Given the description of an element on the screen output the (x, y) to click on. 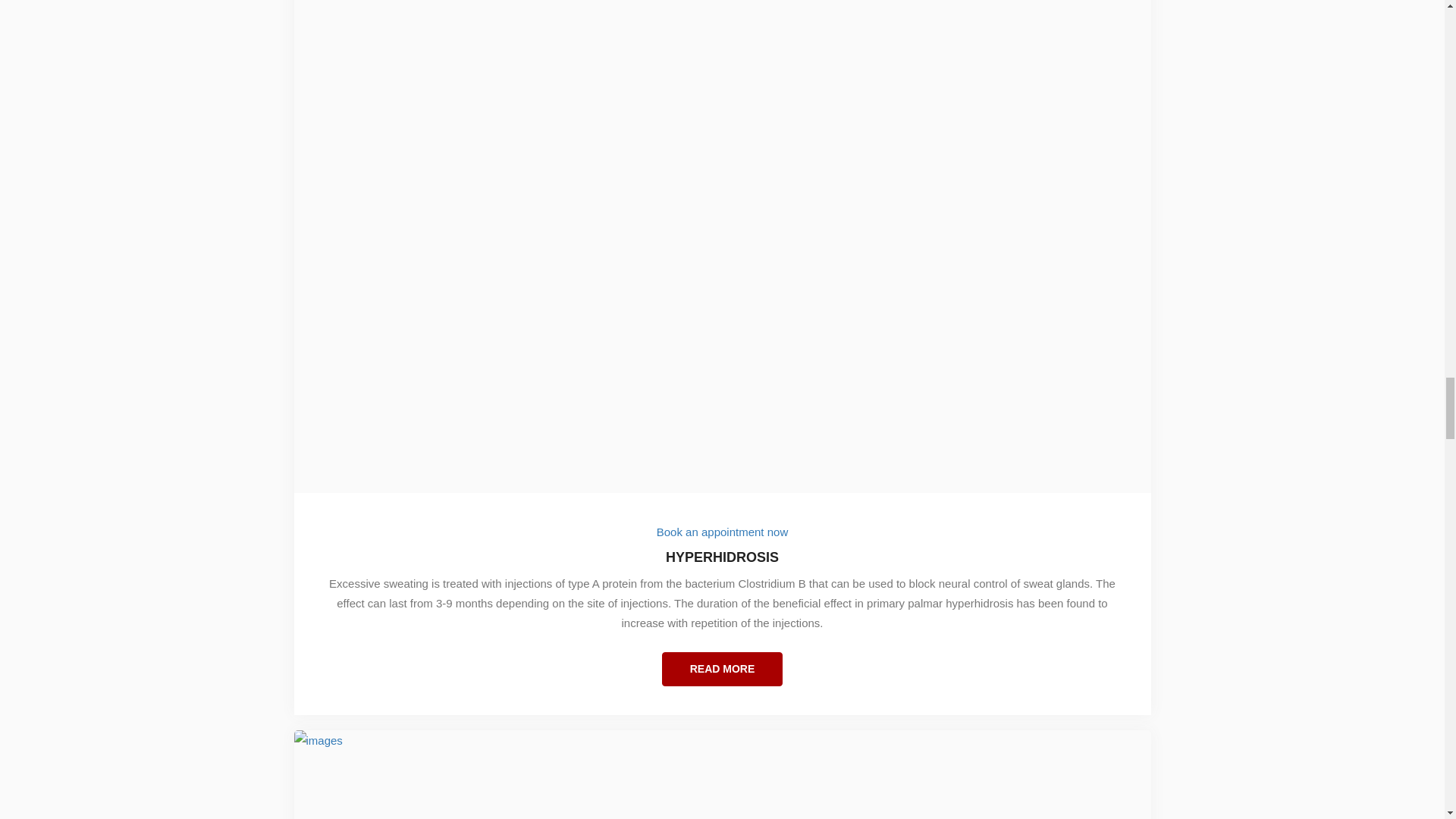
HYPERHIDROSIS (722, 566)
READ MORE (722, 668)
Book an appointment now (721, 531)
